Given the description of an element on the screen output the (x, y) to click on. 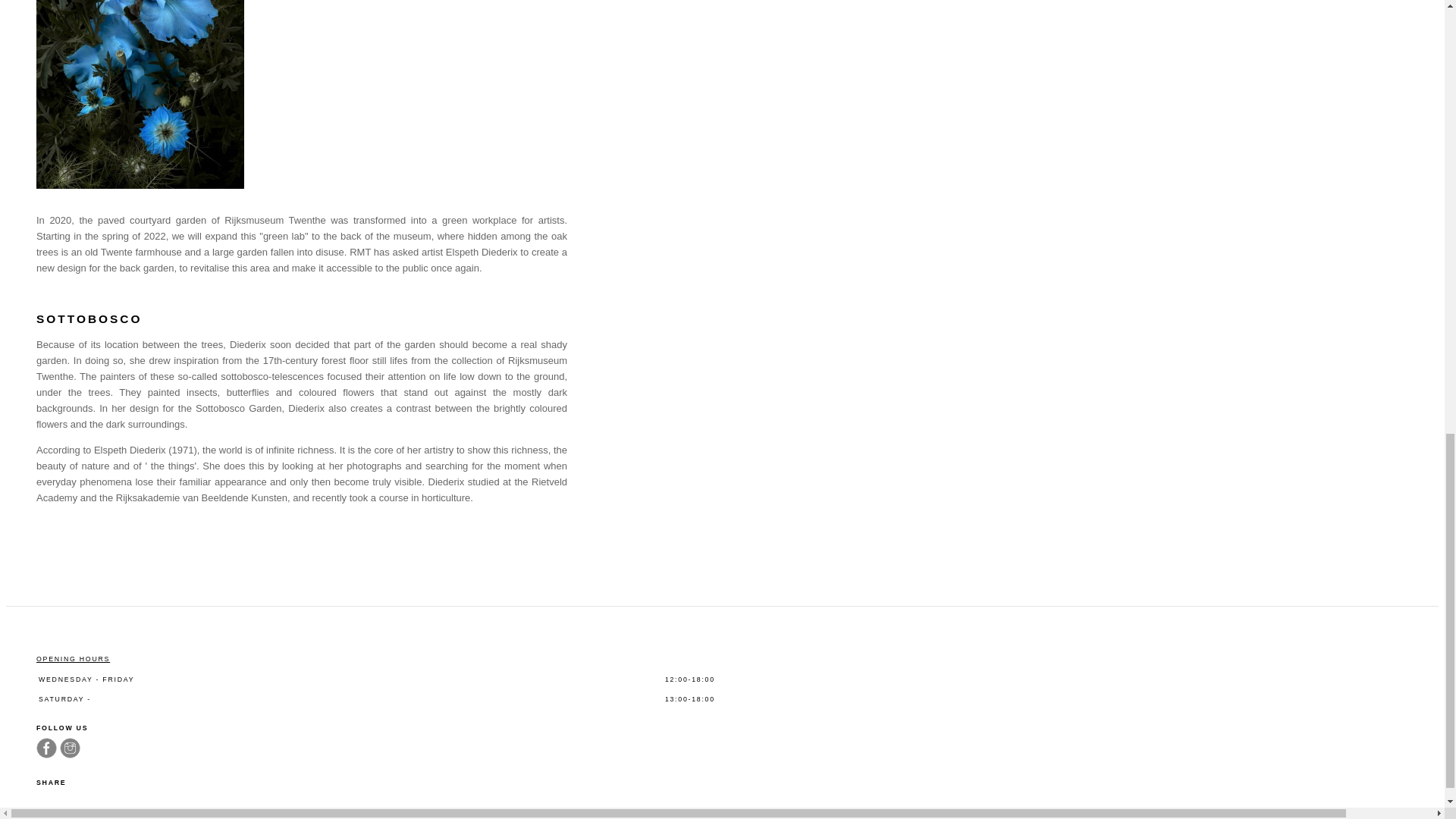
OPENING HOURS (73, 658)
